Given the description of an element on the screen output the (x, y) to click on. 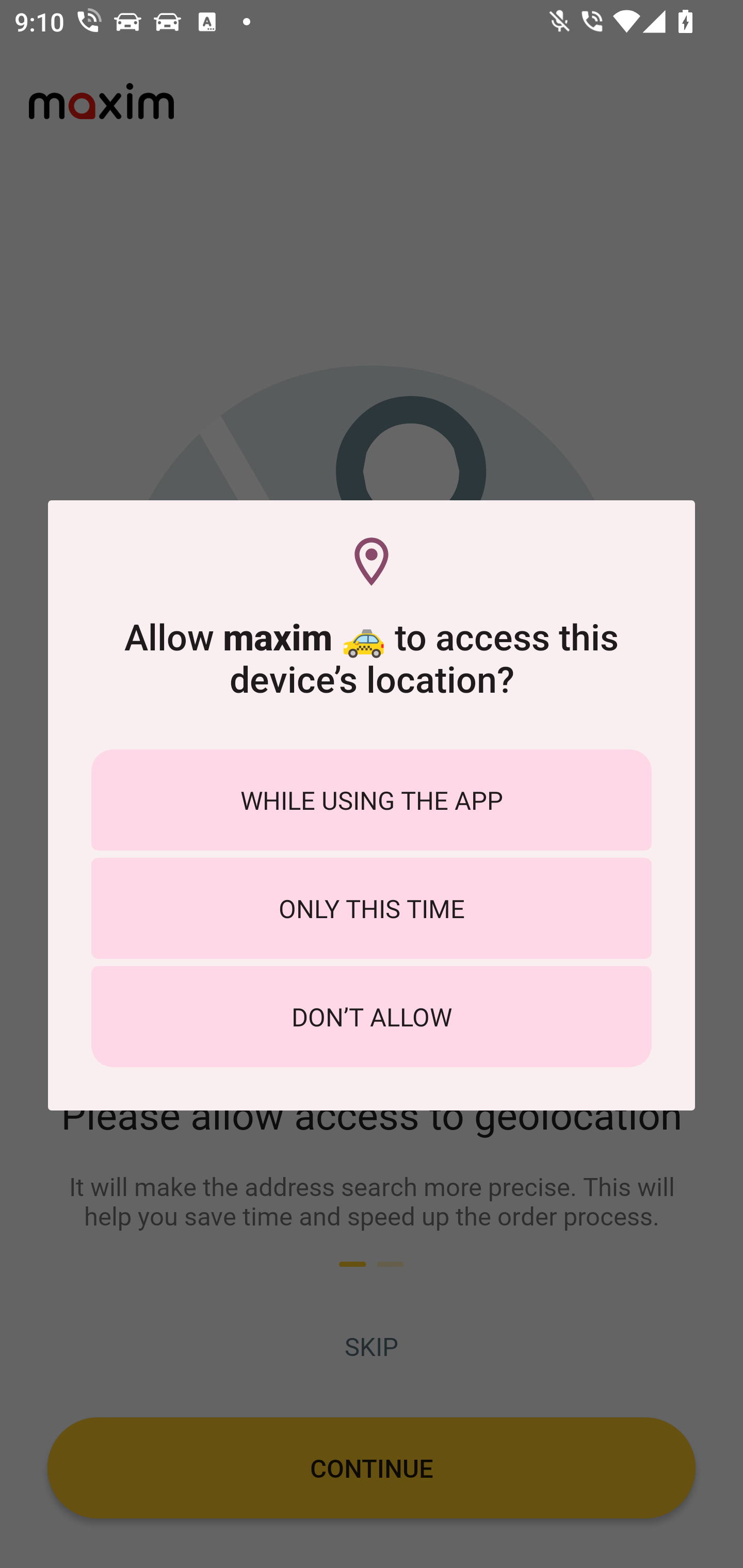
WHILE USING THE APP (371, 799)
ONLY THIS TIME (371, 908)
DON’T ALLOW (371, 1016)
